Given the description of an element on the screen output the (x, y) to click on. 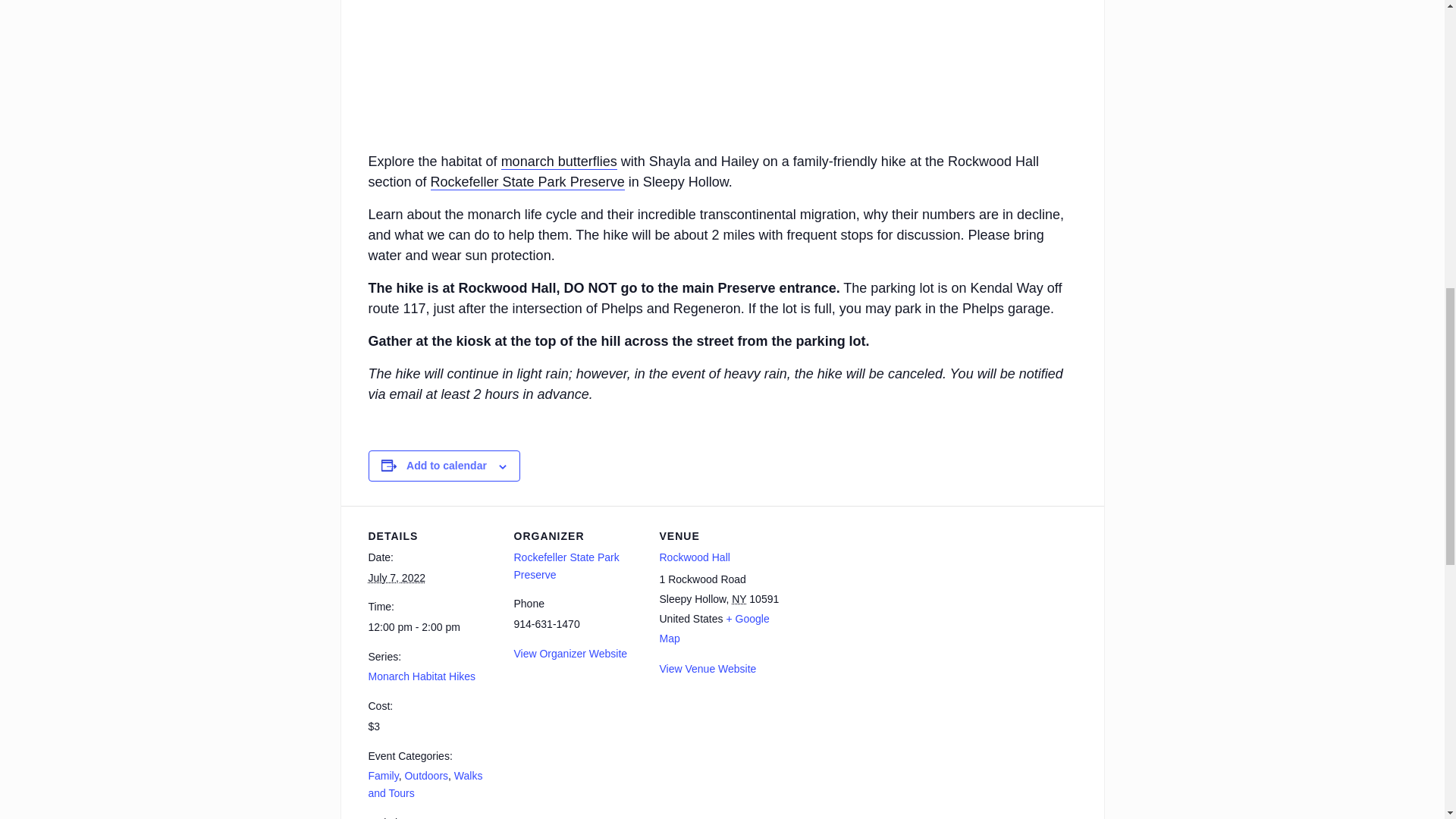
Rockefeller State Park Preserve (566, 565)
Google maps iframe displaying the address to Rockwood Hall (885, 609)
2022-07-07 (432, 627)
2022-07-07 (397, 577)
New York (738, 598)
Click to view a Google Map (714, 628)
Monarch Habitat Hikes (422, 676)
